Given the description of an element on the screen output the (x, y) to click on. 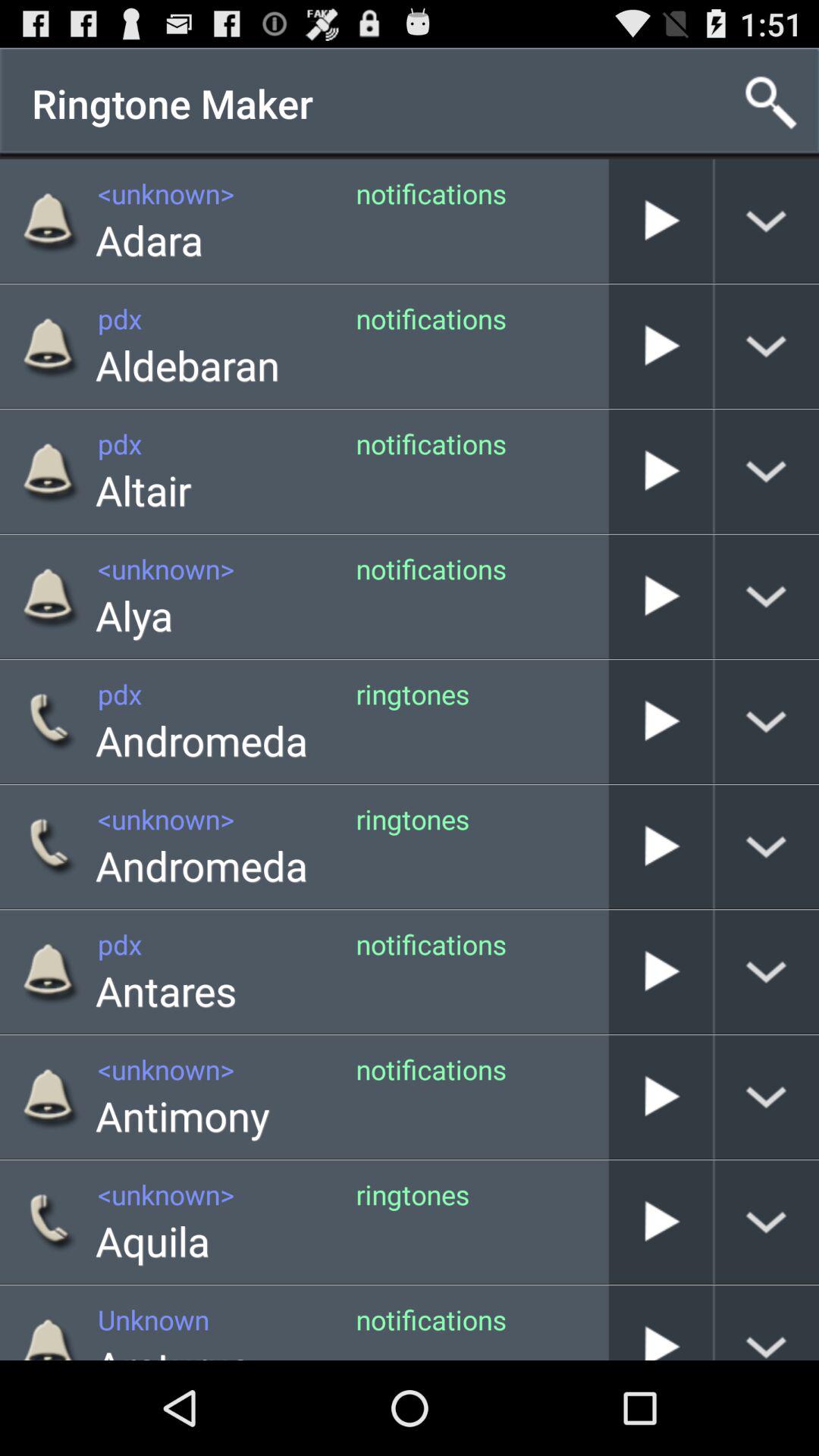
turn off icon next to the notifications app (149, 239)
